Given the description of an element on the screen output the (x, y) to click on. 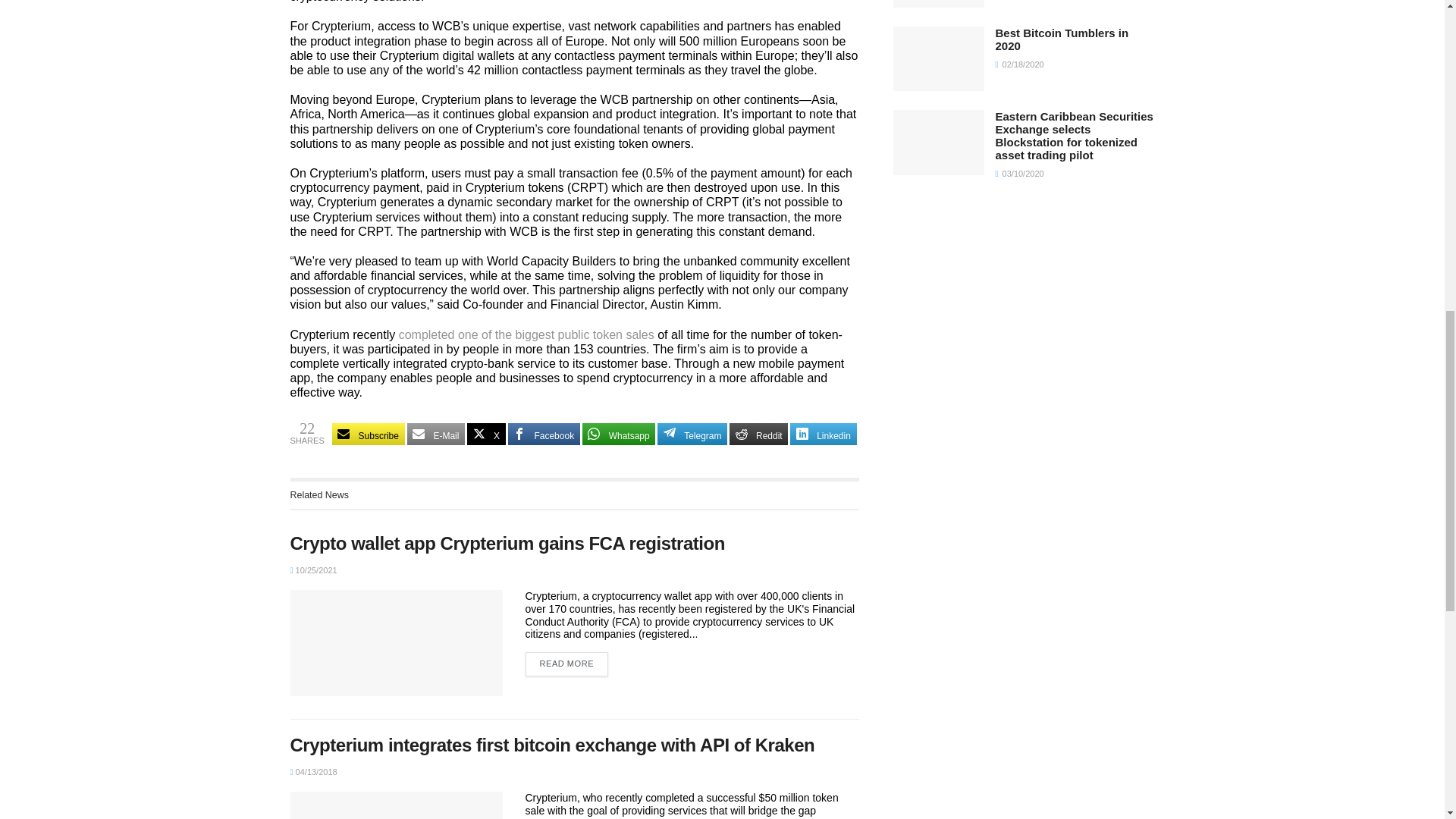
Facebook (543, 434)
Whatsapp (619, 434)
X (486, 434)
Subscribe (367, 434)
completed one of the biggest public token sales (525, 334)
E-Mail (436, 434)
